Given the description of an element on the screen output the (x, y) to click on. 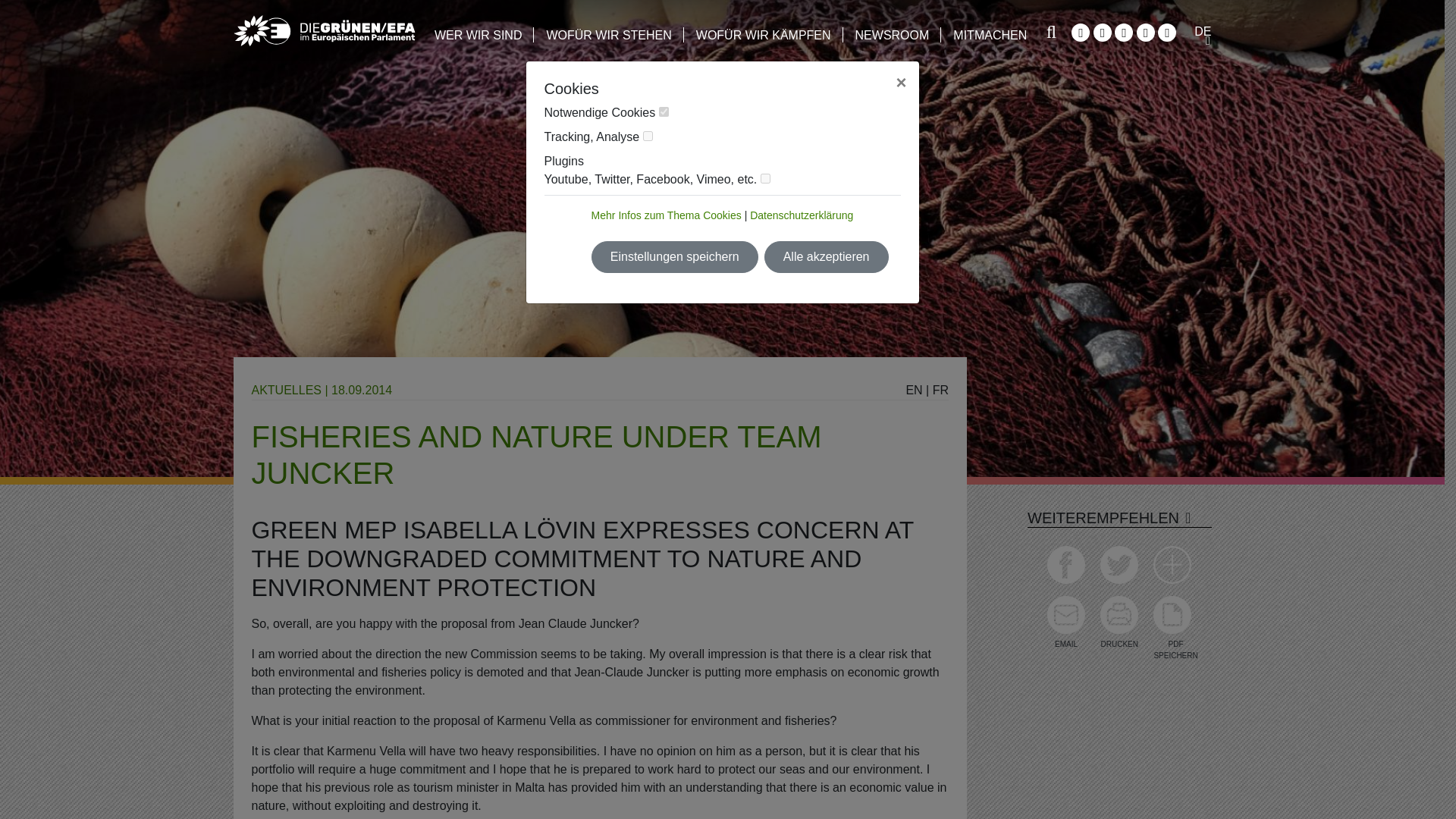
WER WIR SIND (477, 22)
2 (647, 135)
1 (663, 112)
4 (765, 178)
